Given the description of an element on the screen output the (x, y) to click on. 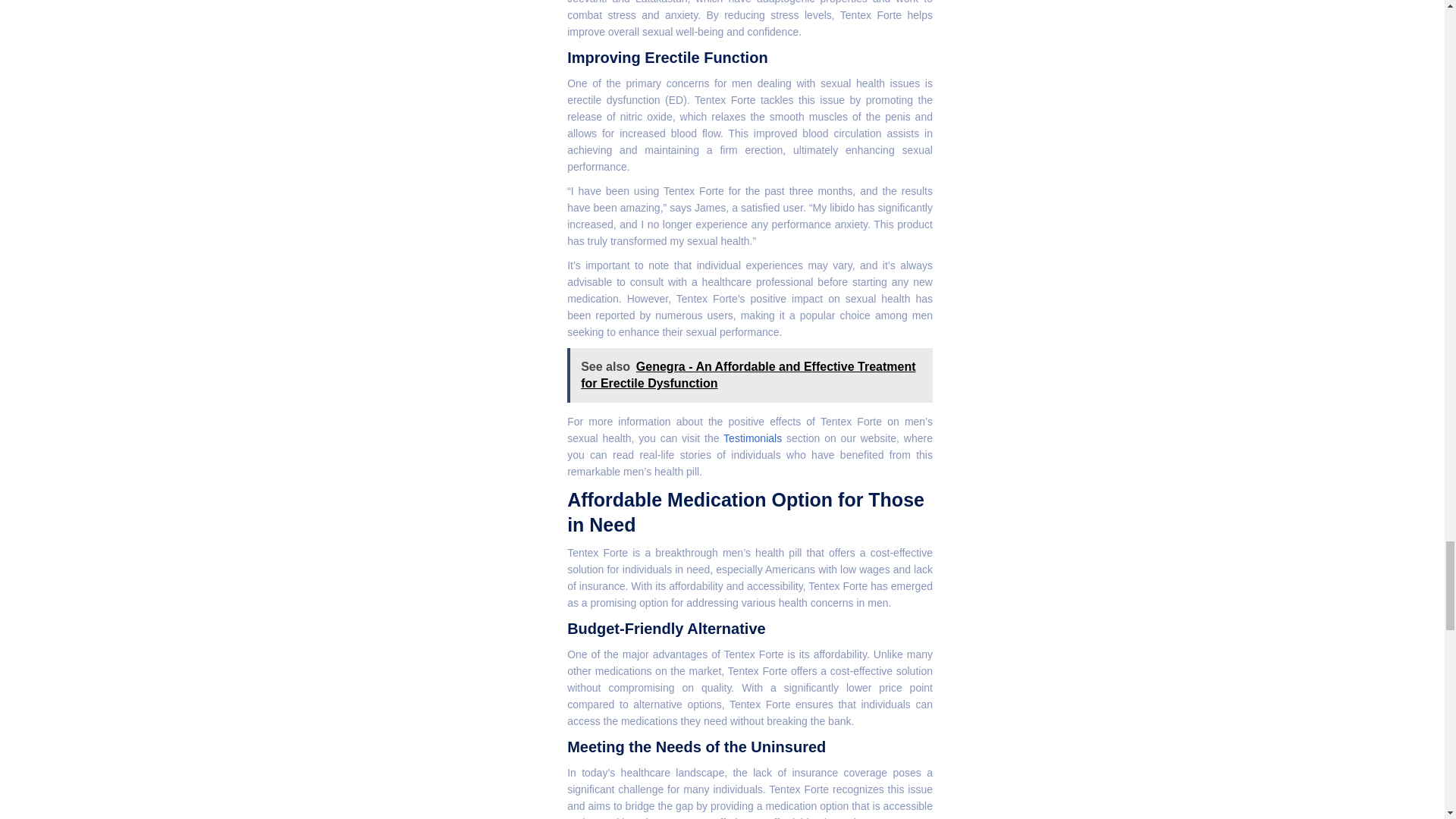
Testimonials (752, 438)
